Given the description of an element on the screen output the (x, y) to click on. 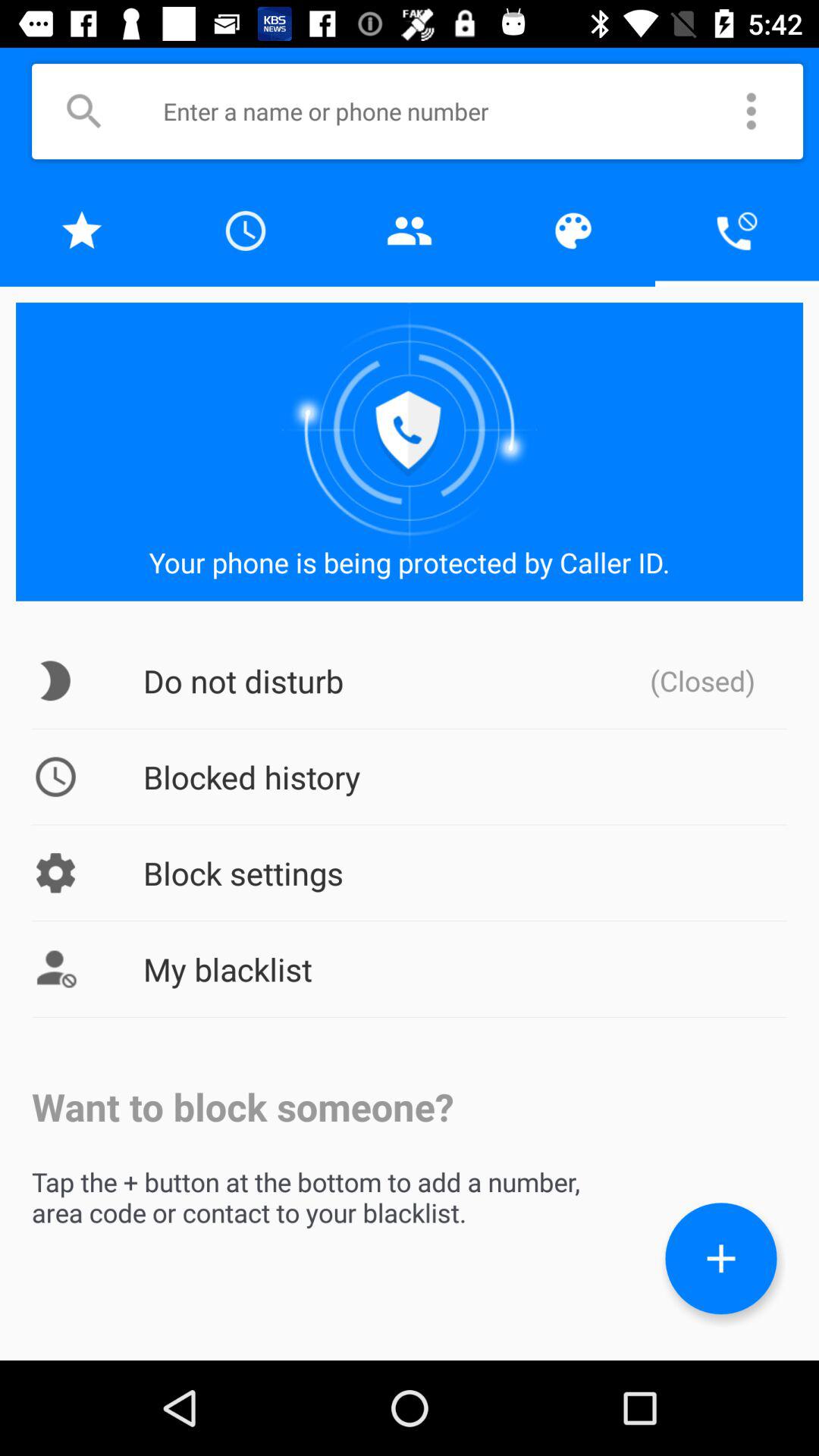
bookmark this (81, 230)
